Given the description of an element on the screen output the (x, y) to click on. 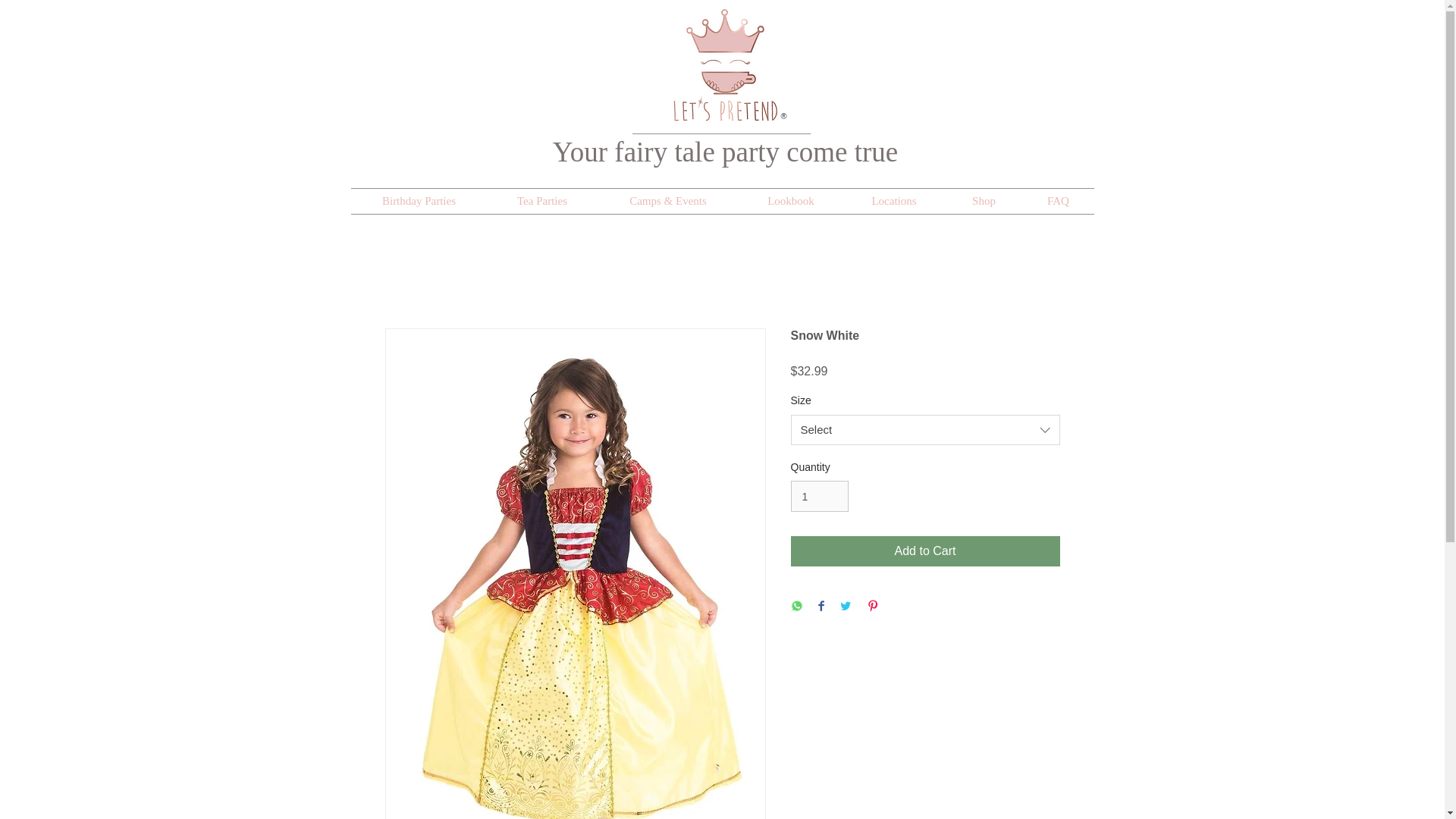
Select (924, 429)
Locations (893, 201)
1 (818, 495)
Lookbook (790, 201)
Shop (983, 201)
FAQ (1057, 201)
Add to Cart (924, 551)
Tea Parties (541, 201)
Your fairy tale party come true (725, 151)
Birthday Parties (418, 201)
